Given the description of an element on the screen output the (x, y) to click on. 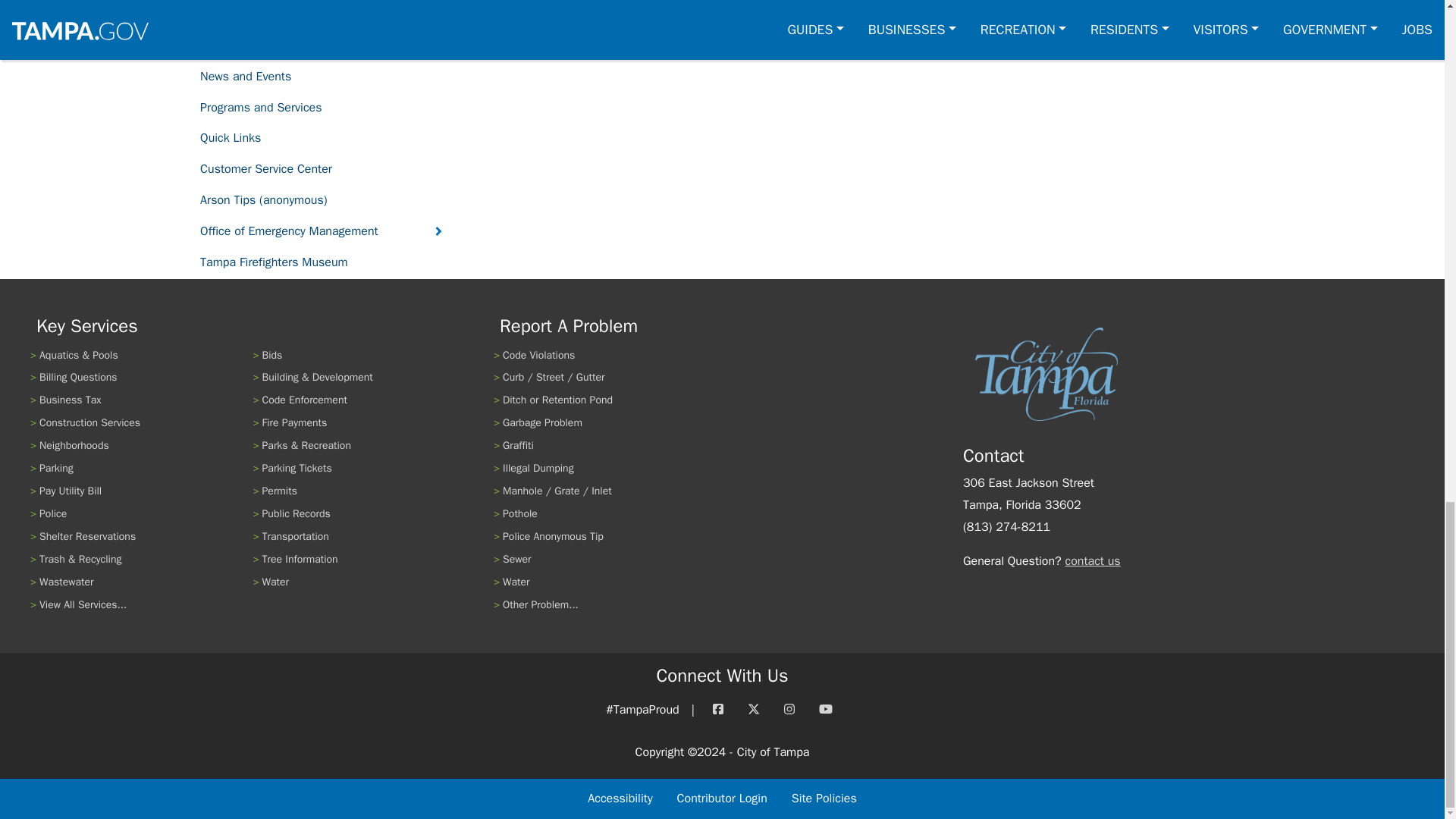
Facebook (717, 709)
YouTube (825, 709)
Twitter (753, 709)
Instagram (788, 709)
